Given the description of an element on the screen output the (x, y) to click on. 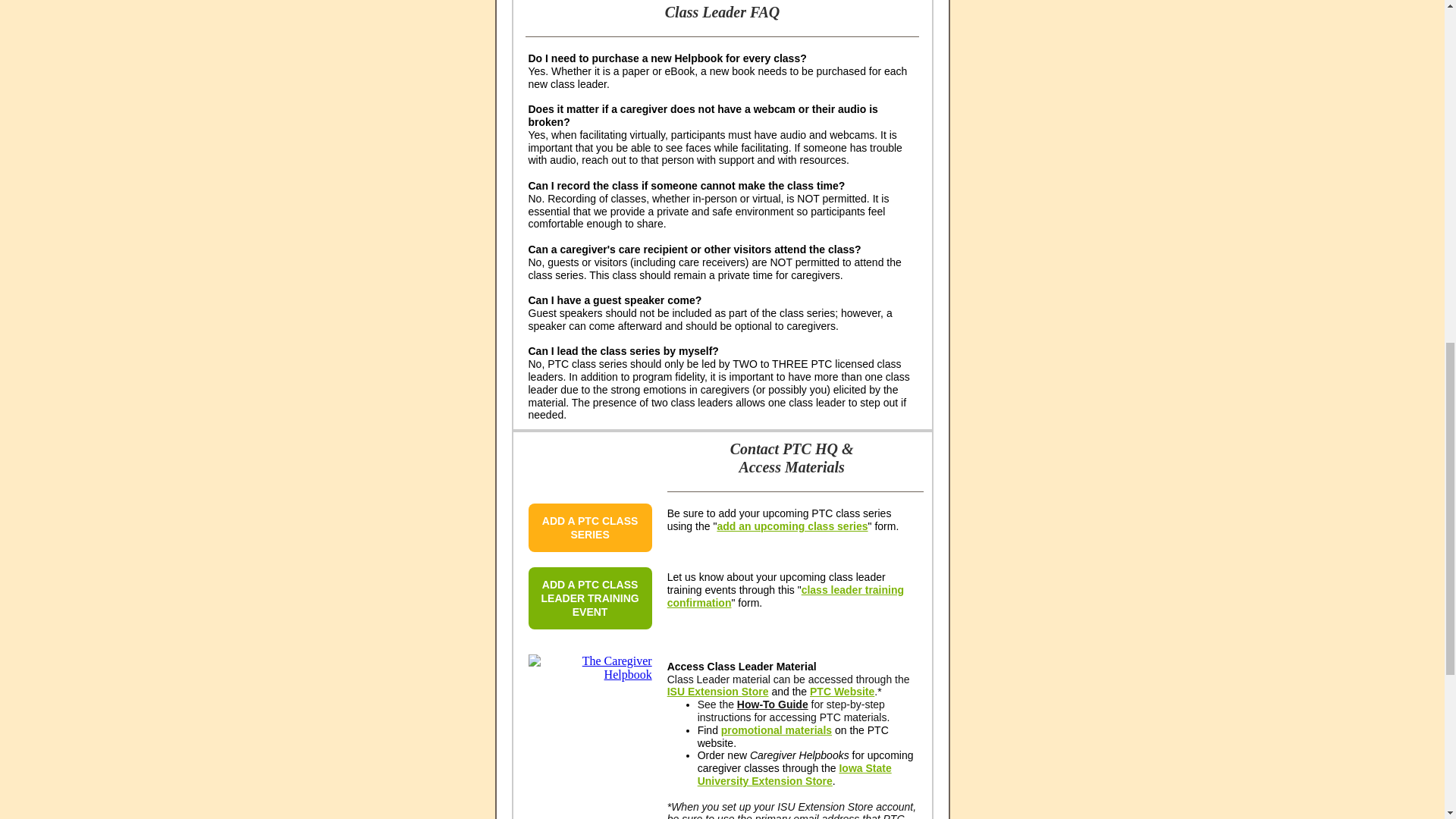
ISU Extension Store (717, 691)
promotional materials (775, 729)
How-To Guide (772, 704)
add an upcoming class series (791, 526)
class leader training confirmation (785, 596)
Iowa State University Extension Store (794, 774)
ADD A PTC CLASS SERIES (590, 527)
PTC Website (842, 691)
ADD A PTC CLASS LEADER TRAINING EVENT (590, 598)
